Given the description of an element on the screen output the (x, y) to click on. 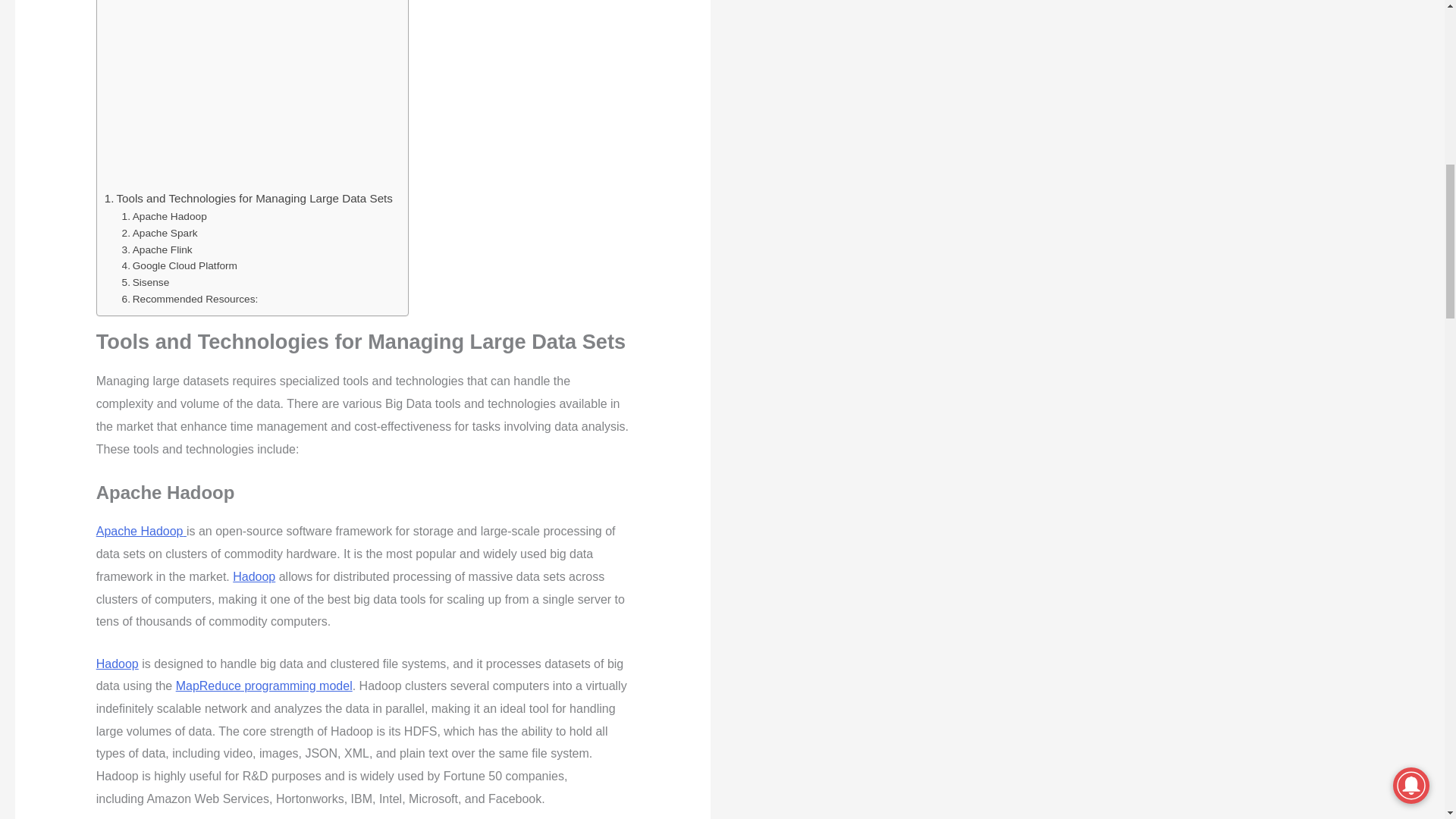
Apache Spark (160, 233)
Tools and Technologies for Managing Large Data Sets (248, 198)
Recommended Resources: (190, 299)
Apache Flink (157, 249)
Advertisement (248, 91)
Sisense (146, 282)
Apache Hadoop (164, 216)
Google Cloud Platform (179, 265)
